Given the description of an element on the screen output the (x, y) to click on. 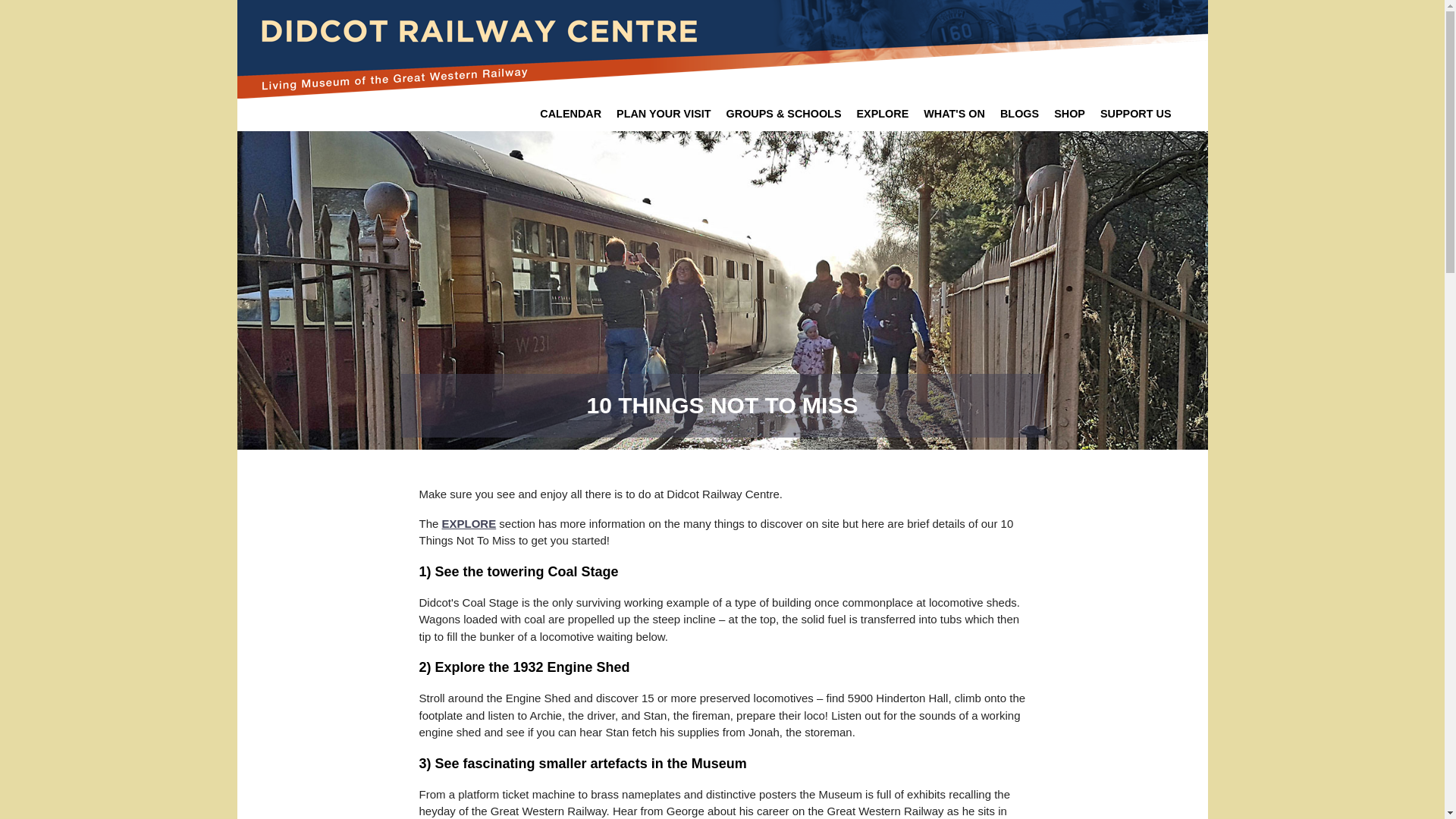
WHAT'S ON (954, 114)
SUPPORT US (1135, 114)
EXPLORE (469, 522)
CALENDAR (570, 114)
EXPLORE (882, 114)
SHOP (1069, 114)
PLAN YOUR VISIT (663, 114)
BLOGS (1019, 114)
